Given the description of an element on the screen output the (x, y) to click on. 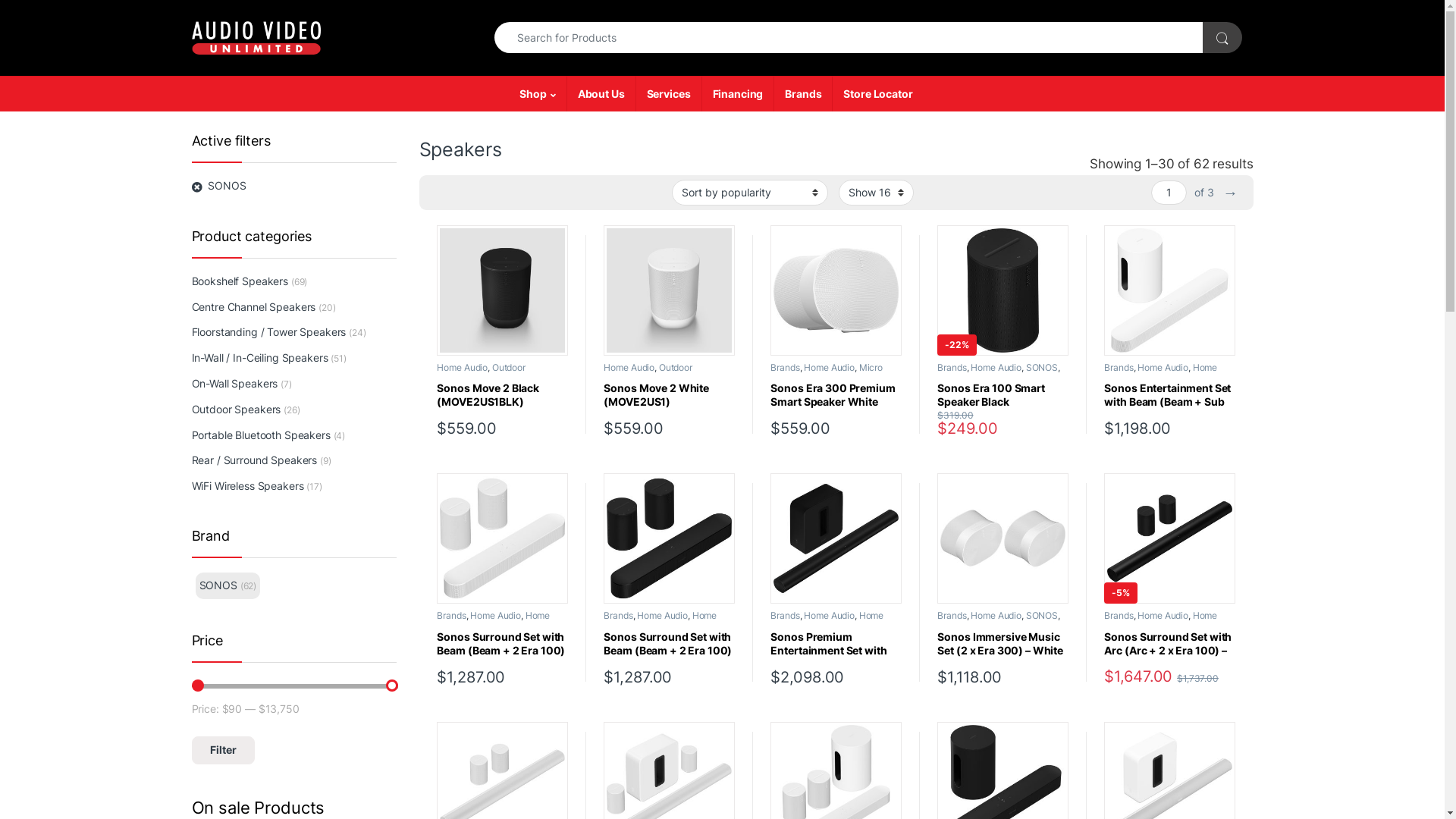
Home Theatre Package Element type: text (826, 619)
Speakers Element type: text (1042, 376)
SONOS Element type: text (496, 376)
Brands Element type: text (784, 367)
Sonos Components Element type: text (977, 376)
Brands Element type: text (951, 367)
WiFi Wireless Speakers Element type: text (652, 381)
Bookshelf Speakers Element type: text (239, 281)
Brands Element type: text (951, 615)
Brands Element type: text (1118, 615)
Home Audio Element type: text (828, 615)
SONOS Element type: text (1041, 367)
SONOS Element type: text (1196, 624)
Sonos Sets/ Bundles Element type: text (979, 624)
Home Audio Element type: text (662, 615)
Outdoor Speakers Element type: text (647, 371)
Portable Bluetooth Speakers Element type: text (260, 435)
WiFi Wireless Speakers Element type: text (247, 485)
On-Wall Speakers Element type: text (234, 383)
Home Audio Element type: text (495, 615)
Brands Element type: text (1118, 367)
Outdoor Speakers Element type: text (235, 409)
About Us Element type: text (600, 93)
-5% Element type: text (1169, 538)
Brands Element type: text (617, 615)
Brands Element type: text (784, 615)
Brands Element type: text (802, 93)
SONOS Element type: text (529, 624)
Micro Systems / Tabletop Audio Element type: text (826, 371)
Home Audio Element type: text (995, 367)
SONOS Element type: text (696, 624)
Sonos Move 2 White (MOVE2US1) Element type: text (668, 394)
Home Audio Element type: text (828, 367)
Services Element type: text (668, 93)
Speakers Element type: text (1046, 624)
SONOS Element type: text (862, 624)
Filter Element type: text (222, 749)
SONOS Element type: text (1196, 376)
Home Theatre Package Element type: text (492, 619)
WiFi Wireless Speakers Element type: text (485, 381)
Floorstanding / Tower Speakers Element type: text (268, 332)
Home Theatre Package Element type: text (659, 619)
Home Audio Element type: text (461, 367)
In-Wall / In-Ceiling Speakers Element type: text (259, 357)
Home Audio Element type: text (1162, 367)
Sonos Era 300 Premium Smart Speaker White (E30G1US1) Element type: text (835, 394)
Sonos Move 2 Black (MOVE2US1BLK) Element type: text (501, 394)
Outdoor Speakers Element type: text (480, 371)
Store Locator Element type: text (876, 93)
SONOS Element type: text (217, 585)
Home Audio Element type: text (1162, 615)
Shop Element type: text (536, 93)
Home Theatre Package Element type: text (1160, 619)
Home Theatre Package Element type: text (1160, 371)
Brands Element type: text (450, 615)
SONOS Element type: text (293, 185)
Sonos Era 100 Smart Speaker Black (E10G1US1BLK) Element type: text (1002, 394)
Rear / Surround Speakers Element type: text (253, 460)
SONOS Element type: text (1041, 615)
Home Audio Element type: text (995, 615)
-22% Element type: text (1002, 290)
Financing Element type: text (736, 93)
SONOS Element type: text (663, 376)
Home Audio Element type: text (628, 367)
Centre Channel Speakers Element type: text (253, 307)
